Given the description of an element on the screen output the (x, y) to click on. 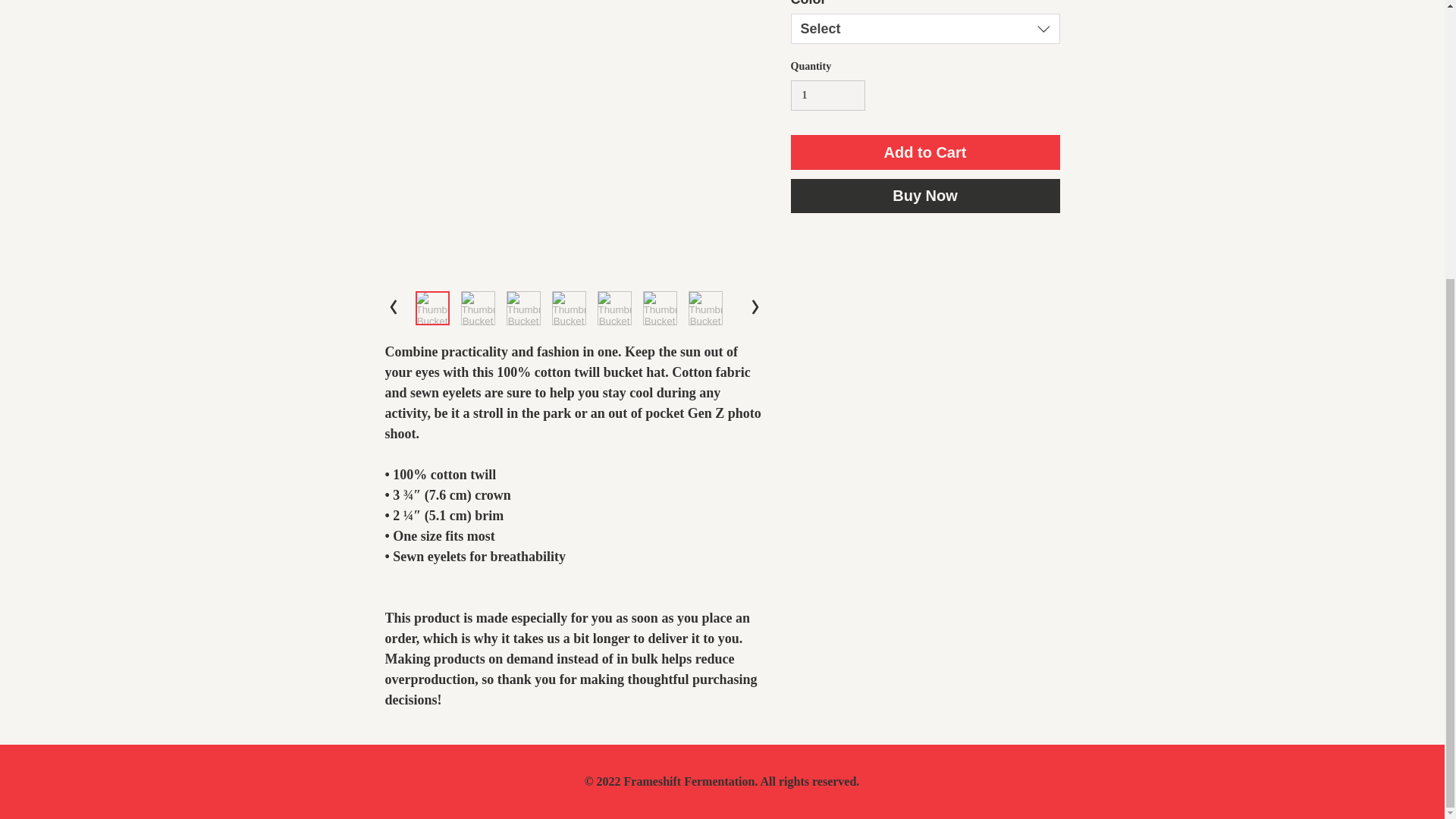
Add to Cart (924, 152)
1 (827, 95)
Buy Now (924, 195)
Select (924, 28)
